Given the description of an element on the screen output the (x, y) to click on. 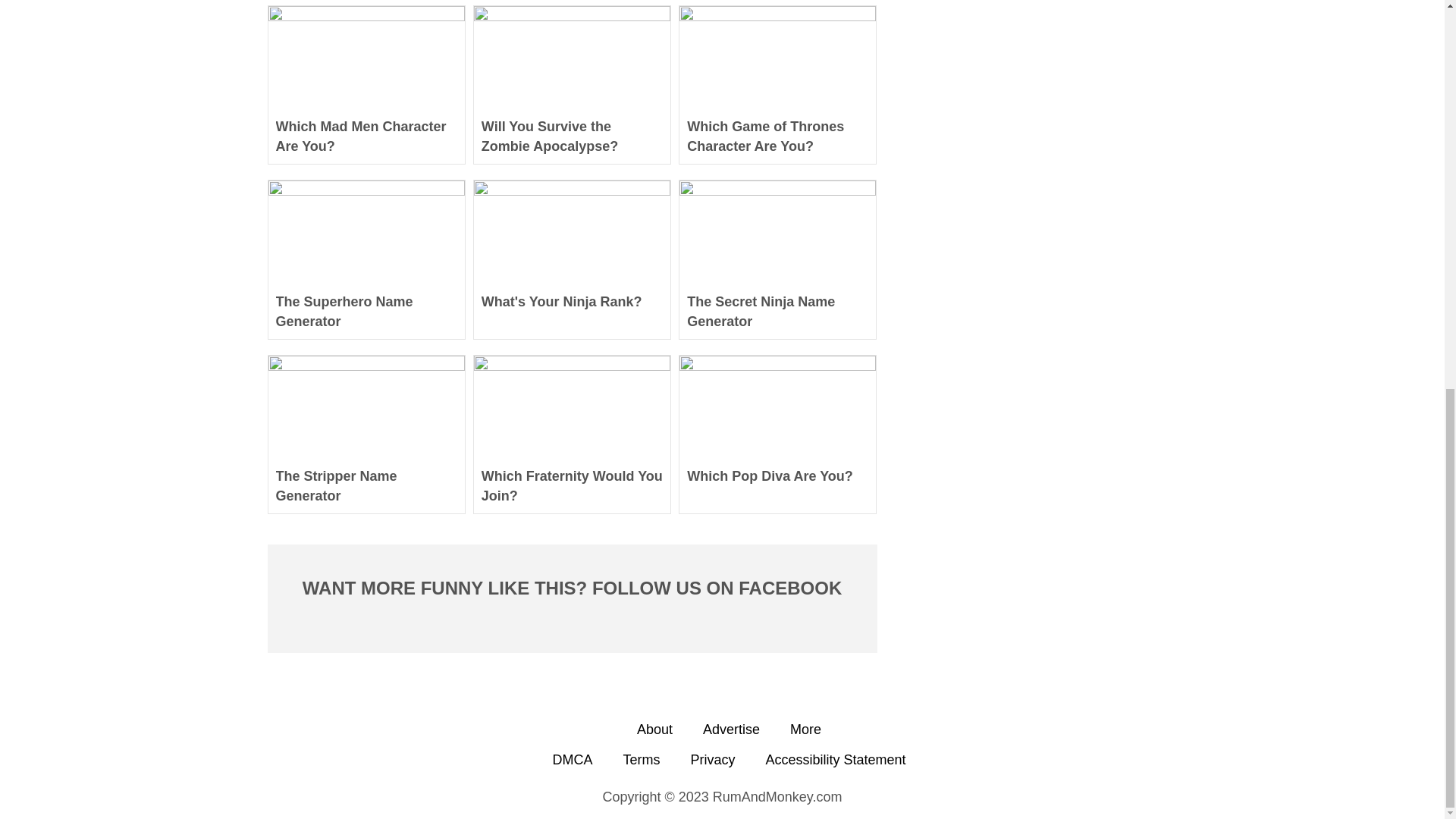
Which Game of Thrones Character Are You? (777, 136)
DMCA (571, 759)
Which Pop Diva Are You? (777, 486)
The Stripper Name Generator (366, 486)
Which Fraternity Would You Join? (571, 486)
The Secret Ninja Name Generator (777, 311)
Accessibility Statement (835, 759)
More (805, 729)
Will You Survive the Zombie Apocalypse? (571, 136)
What's Your Ninja Rank? (571, 311)
